Given the description of an element on the screen output the (x, y) to click on. 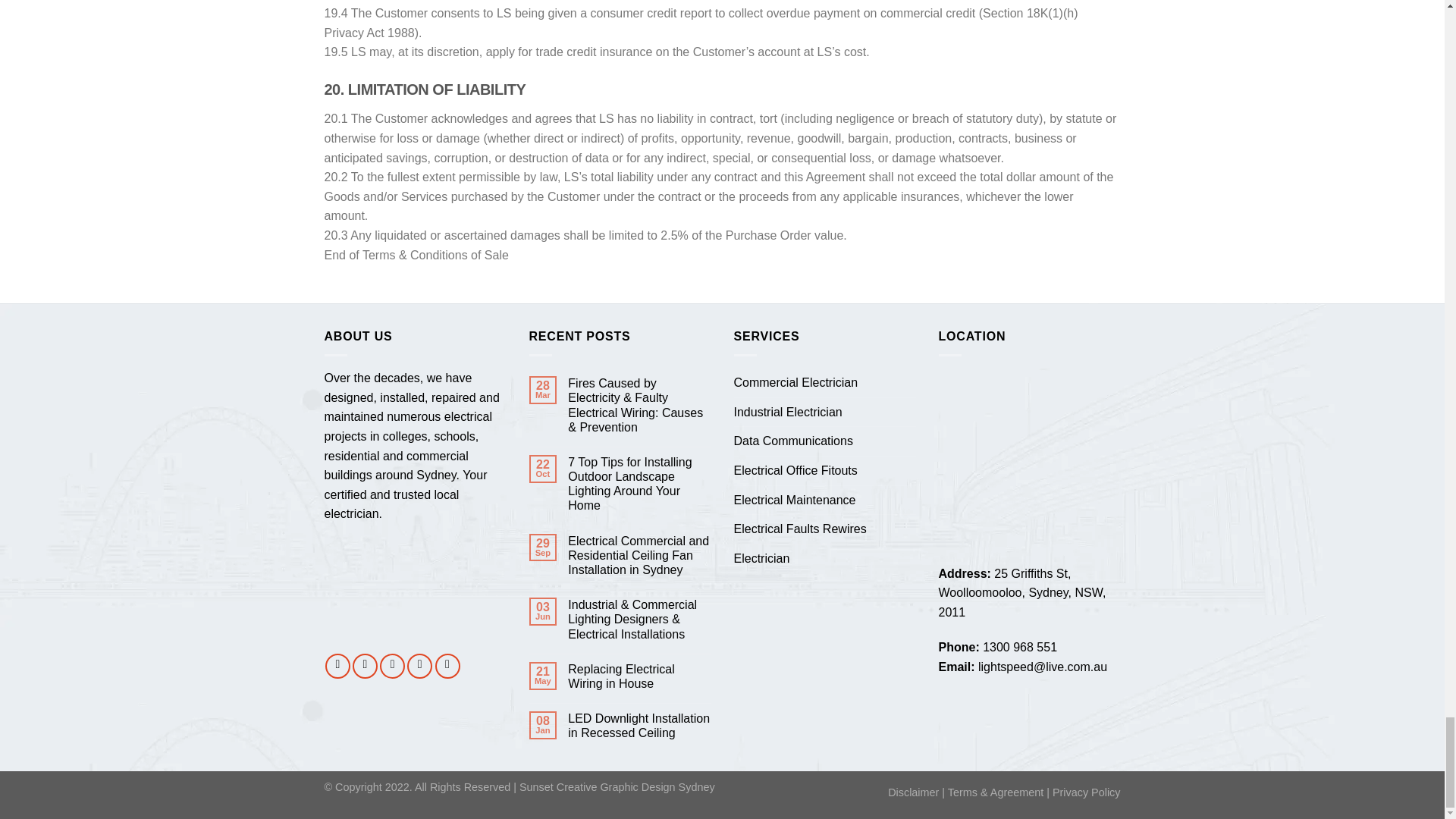
Email to a Friend (392, 665)
Replacing Electrical Wiring in House (638, 676)
LED Downlight Installation in Recessed Ceiling (638, 725)
Share on Twitter (364, 665)
Share on Facebook (337, 665)
Pin on Pinterest (419, 665)
Share on LinkedIn (447, 665)
